Given the description of an element on the screen output the (x, y) to click on. 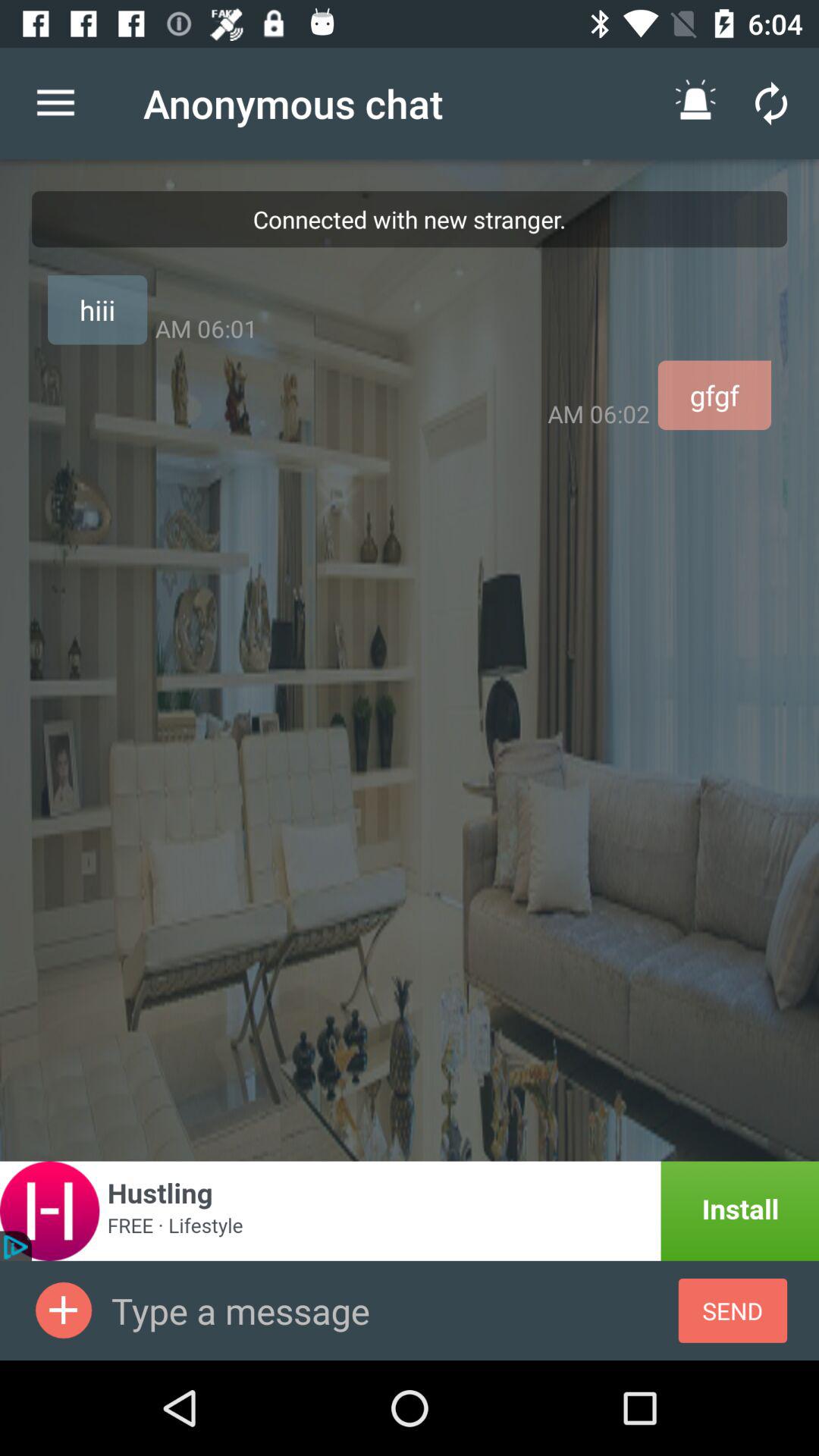
type message (394, 1310)
